Given the description of an element on the screen output the (x, y) to click on. 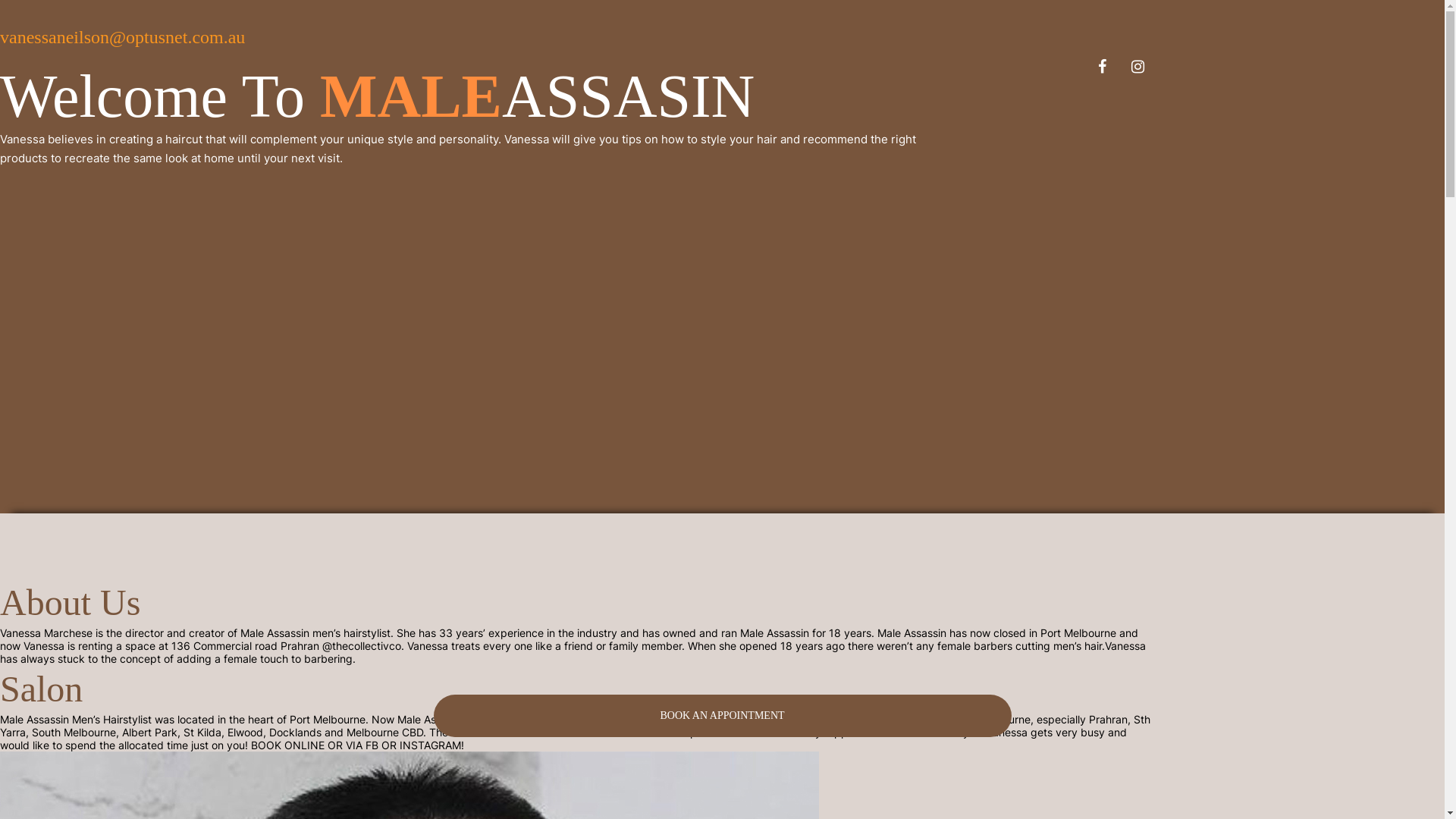
vanessaneilson@optusnet.com.au Element type: text (122, 37)
Book An Appointment Element type: text (722, 715)
